Given the description of an element on the screen output the (x, y) to click on. 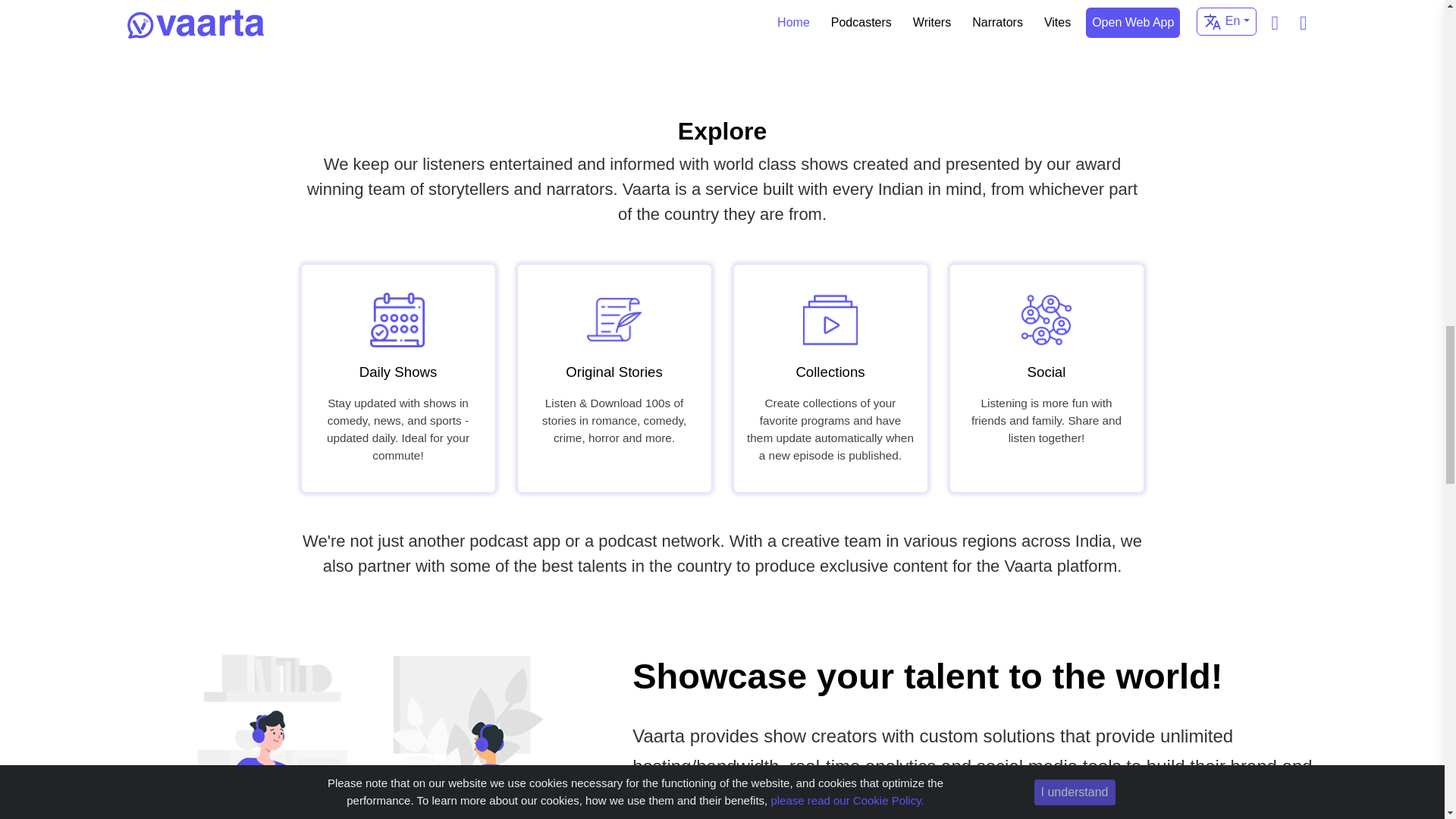
View more (721, 16)
